Given the description of an element on the screen output the (x, y) to click on. 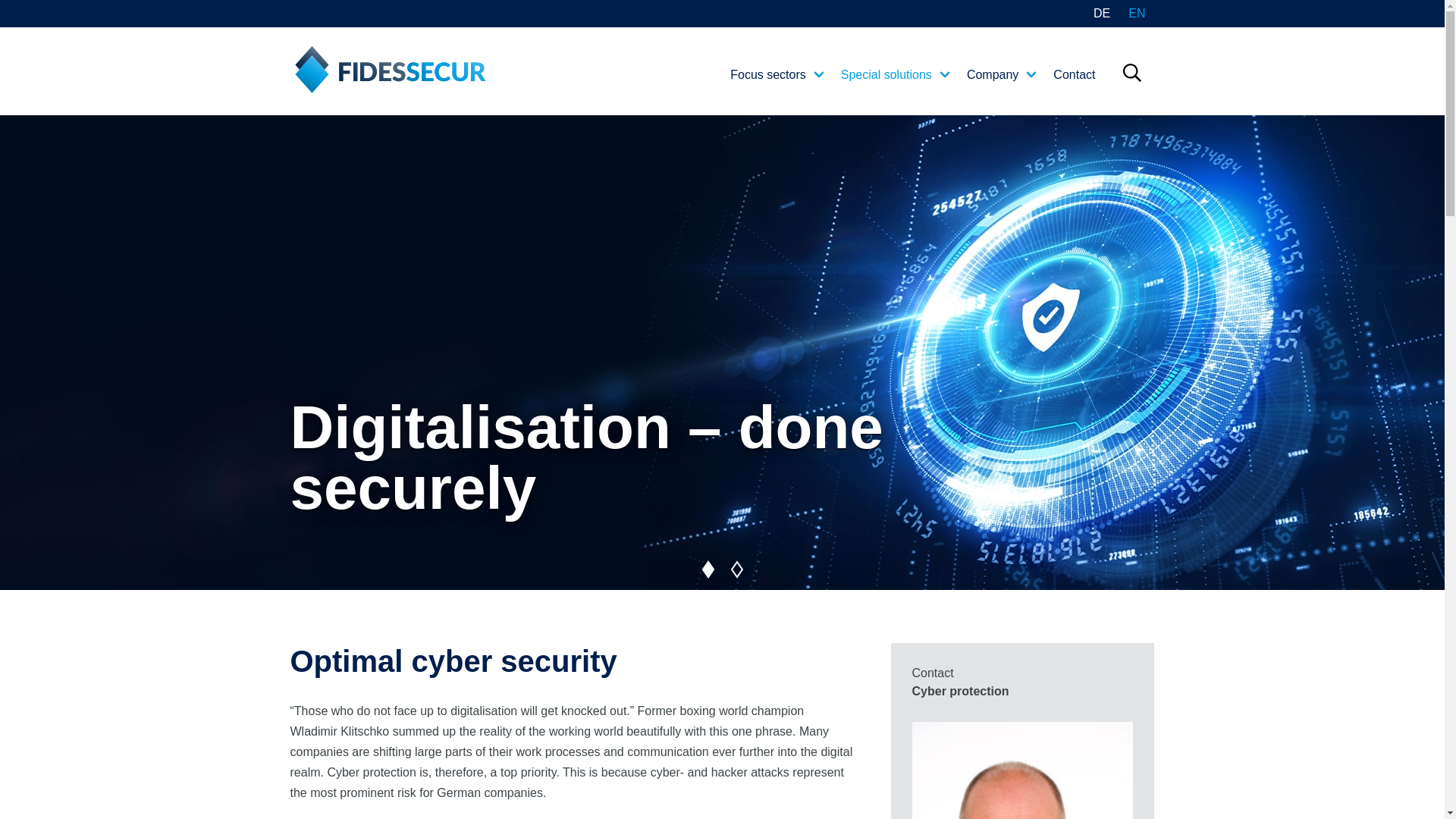
Focus sectors (771, 74)
Contact (1073, 74)
Special solutions (890, 74)
EN (1136, 13)
Company (996, 74)
Search (1158, 89)
DE (1101, 13)
